Given the description of an element on the screen output the (x, y) to click on. 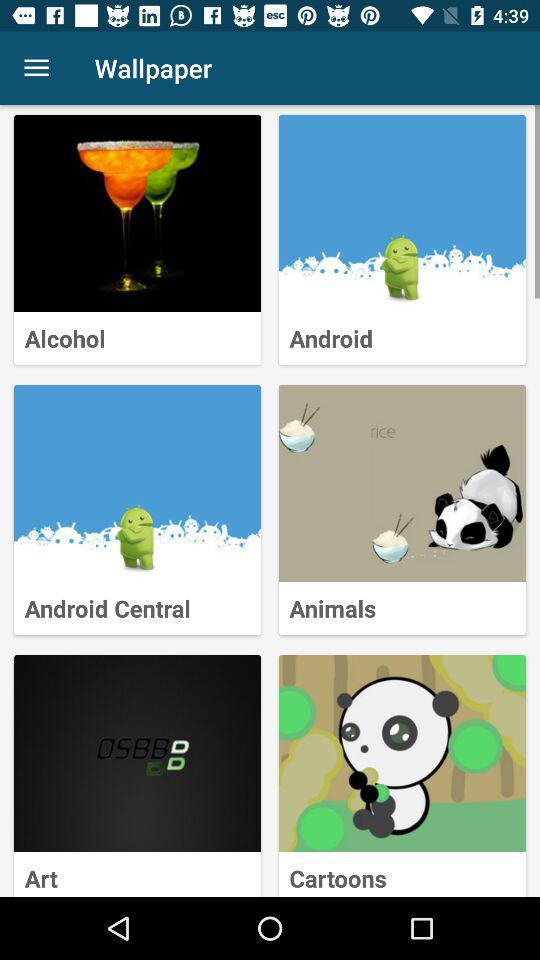
press item next to the wallpaper (36, 68)
